Given the description of an element on the screen output the (x, y) to click on. 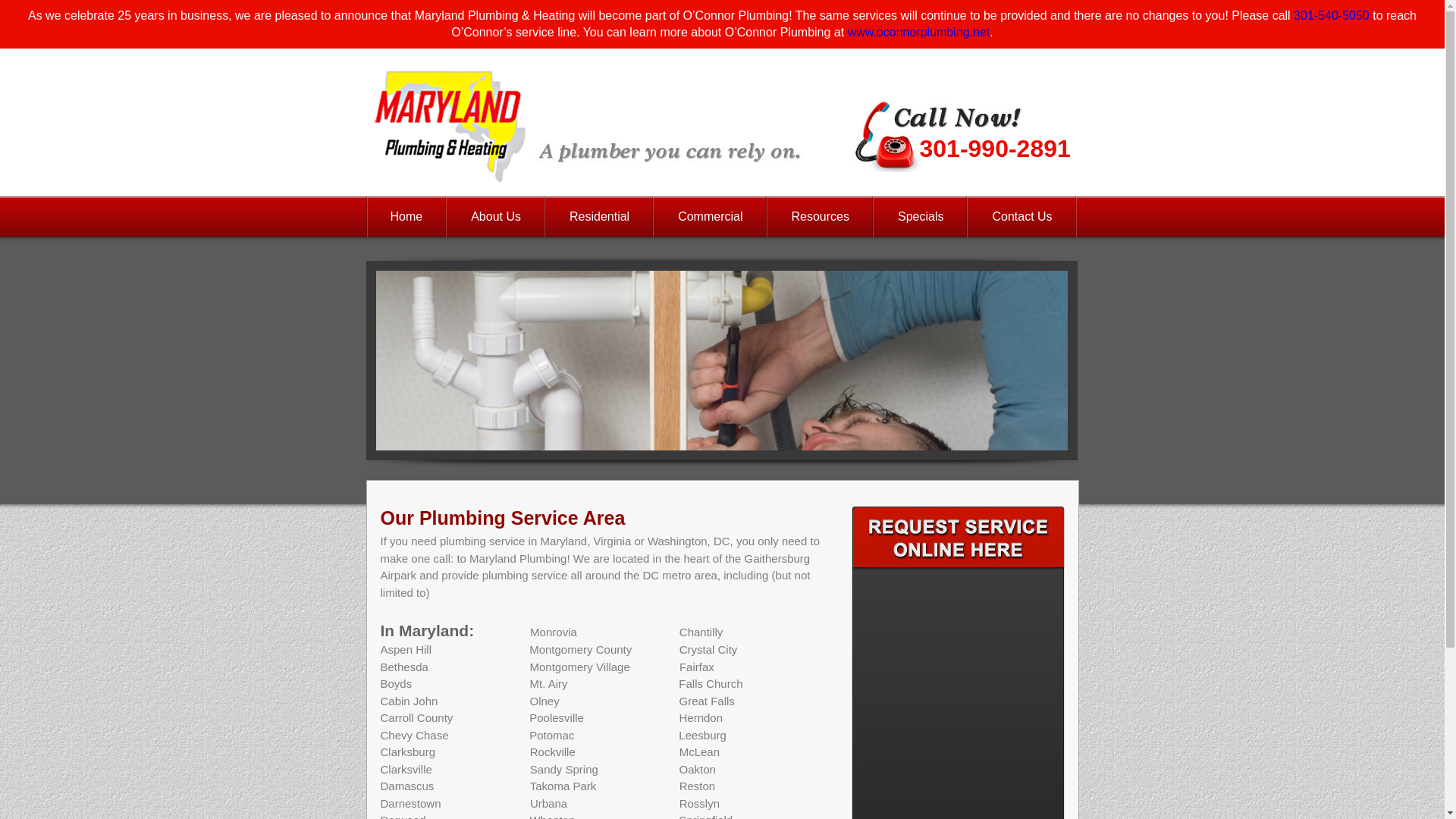
www.oconnorplumbing.net (918, 31)
About Us (495, 216)
Residential (598, 216)
Specials (920, 216)
Resources (820, 216)
Home (405, 216)
301-540-5050 (1332, 15)
Commercial (710, 216)
Contact Us (1021, 216)
